Given the description of an element on the screen output the (x, y) to click on. 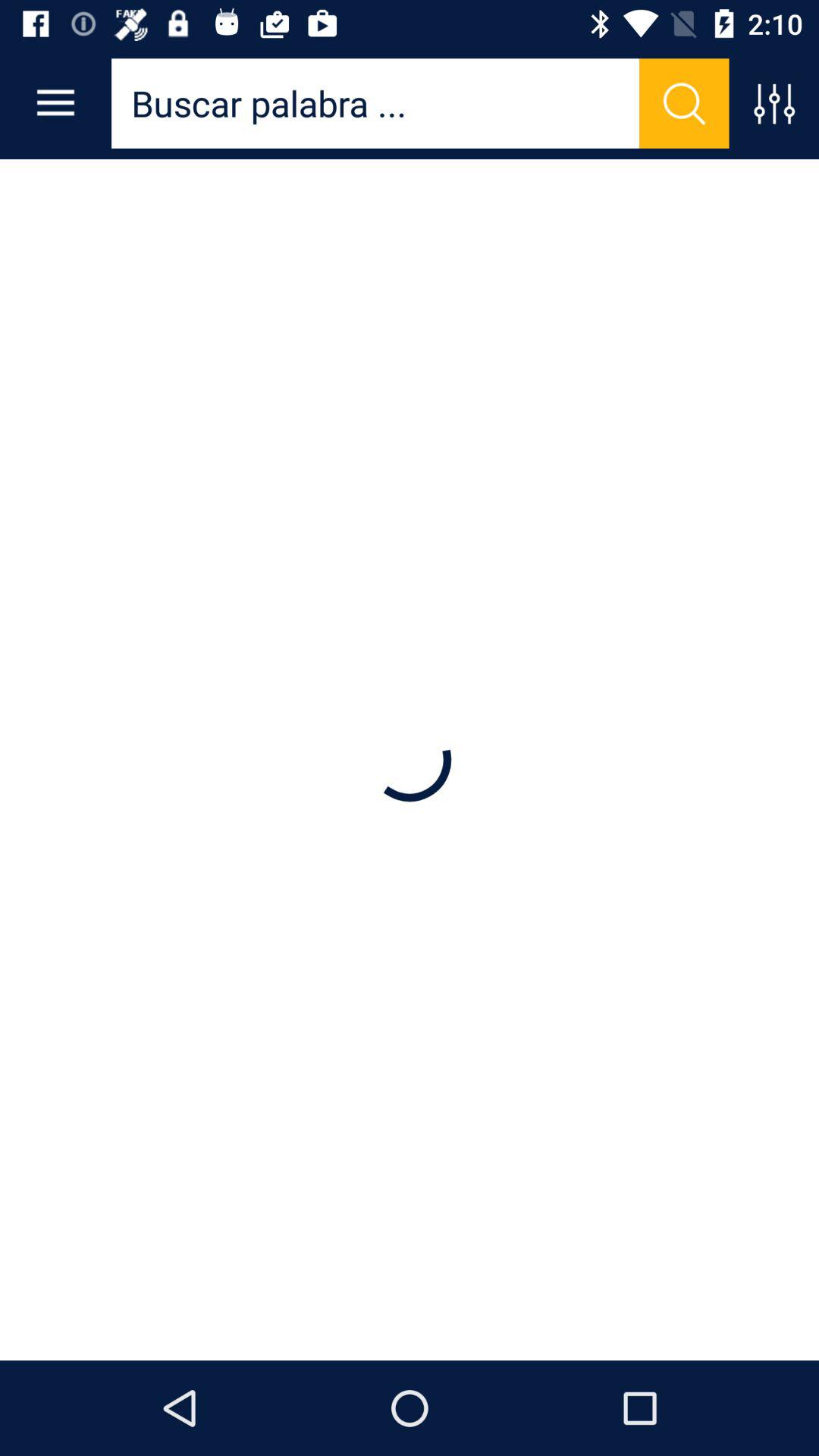
search (684, 103)
